Given the description of an element on the screen output the (x, y) to click on. 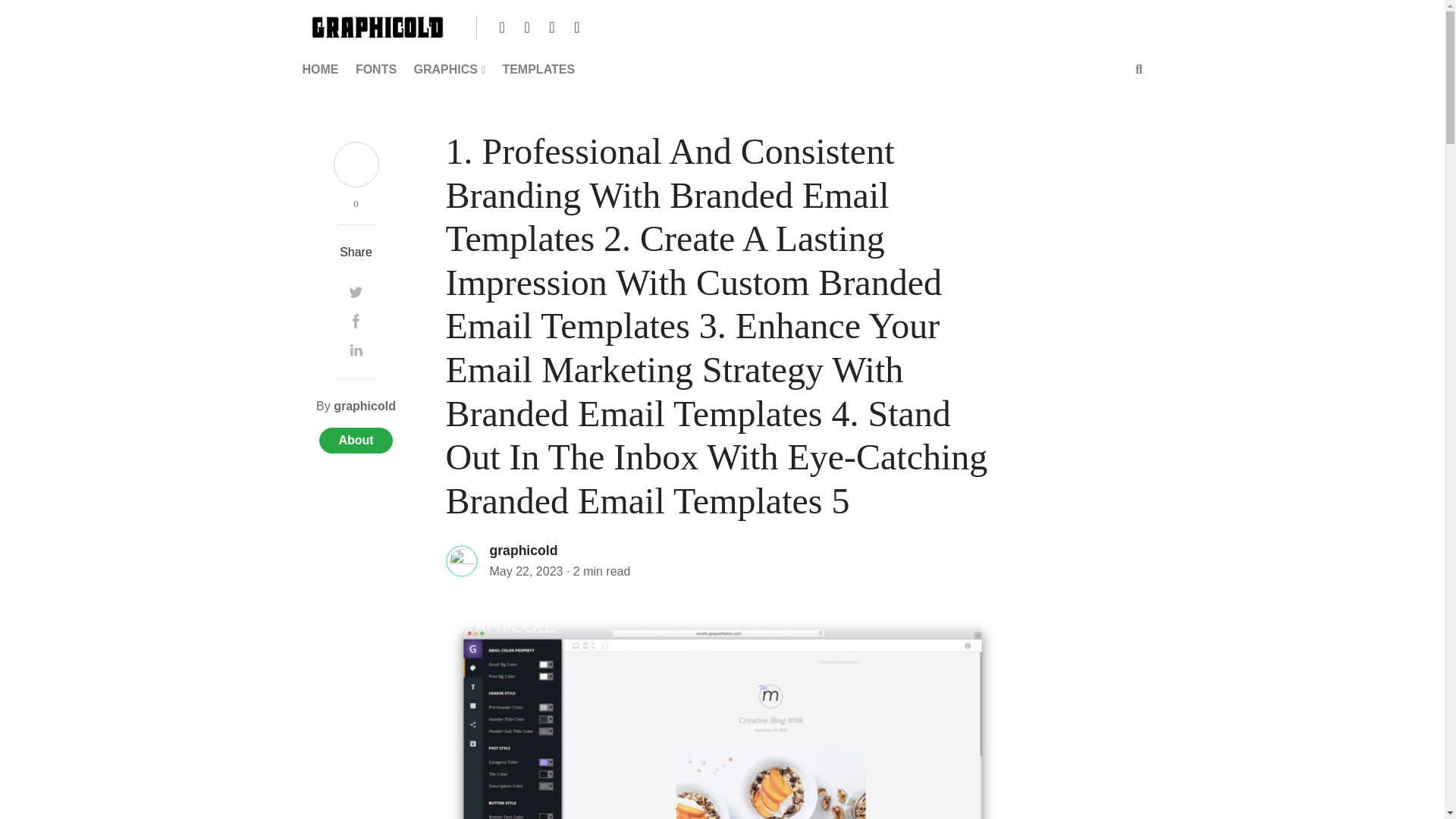
graphicold (523, 548)
graphicold (364, 405)
HOME (323, 69)
TEMPLATES (538, 69)
About (354, 440)
Posts by graphicold (364, 405)
Posts by graphicold (523, 549)
GRAPHICS (448, 69)
FONTS (376, 69)
